Given the description of an element on the screen output the (x, y) to click on. 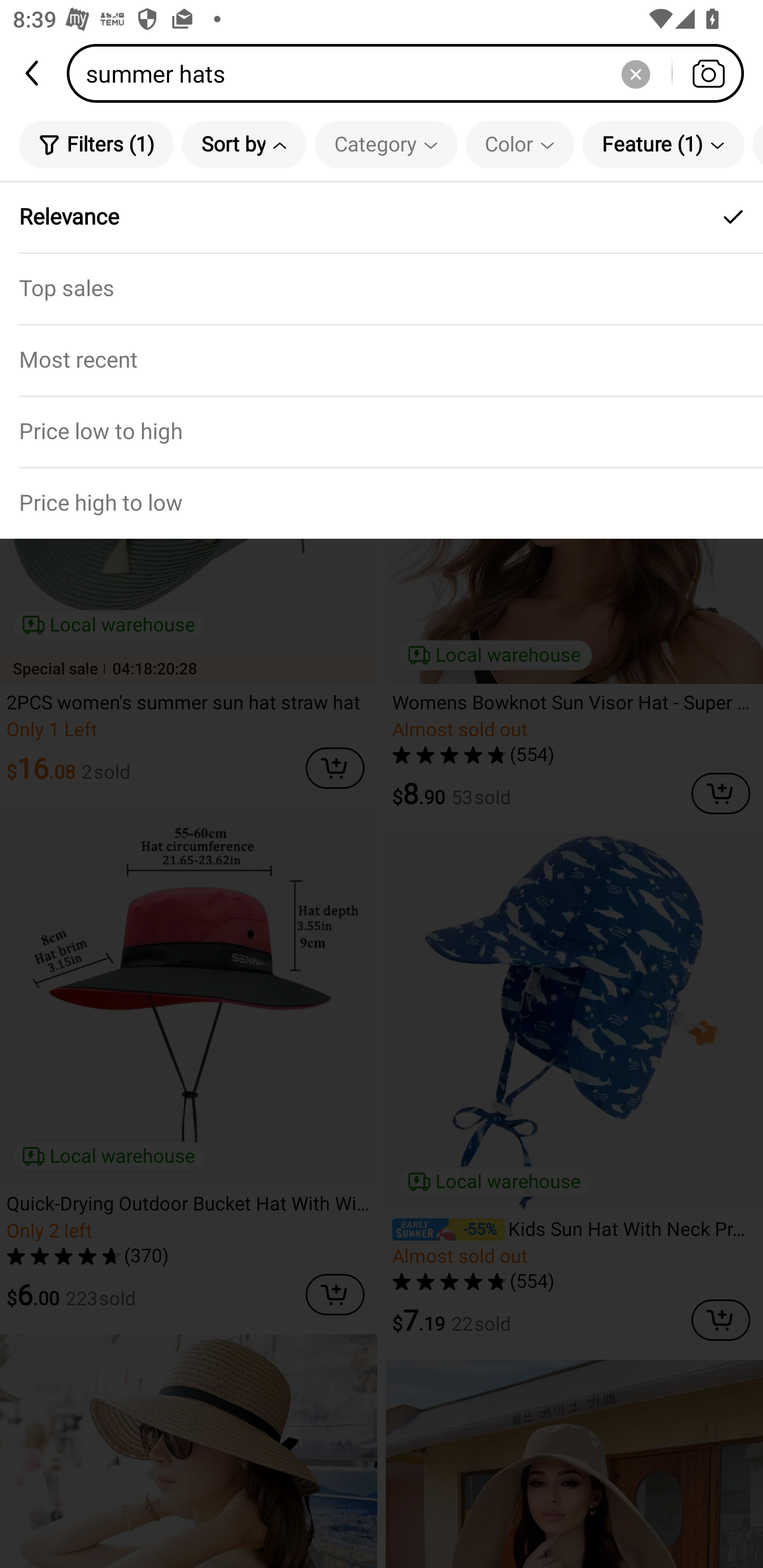
back (33, 72)
summer hats (411, 73)
Delete search history (635, 73)
Search by photo (708, 73)
Filters (1) (96, 143)
Sort by (243, 143)
Category (385, 143)
Color (519, 143)
Feature (1) (663, 143)
Relevance (381, 216)
Top sales (381, 288)
Most recent (381, 359)
Price low to high (381, 431)
Price high to low (381, 503)
